Given the description of an element on the screen output the (x, y) to click on. 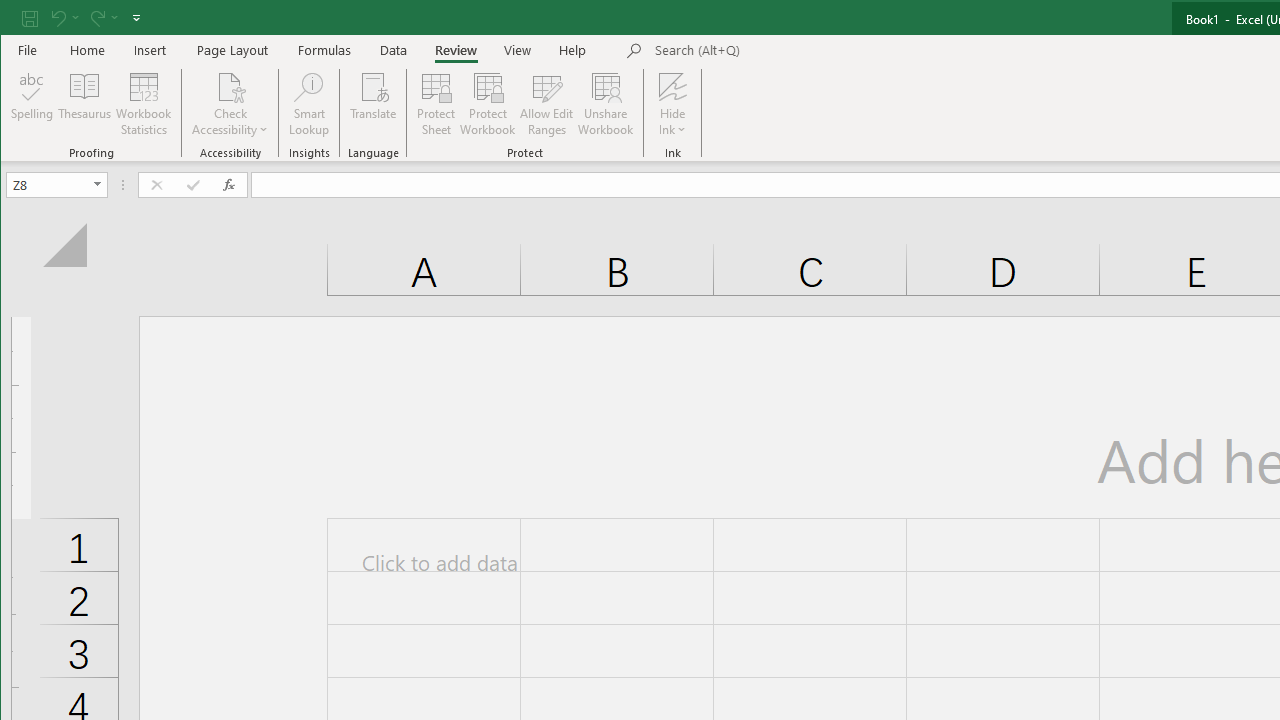
Translate (373, 104)
